Given the description of an element on the screen output the (x, y) to click on. 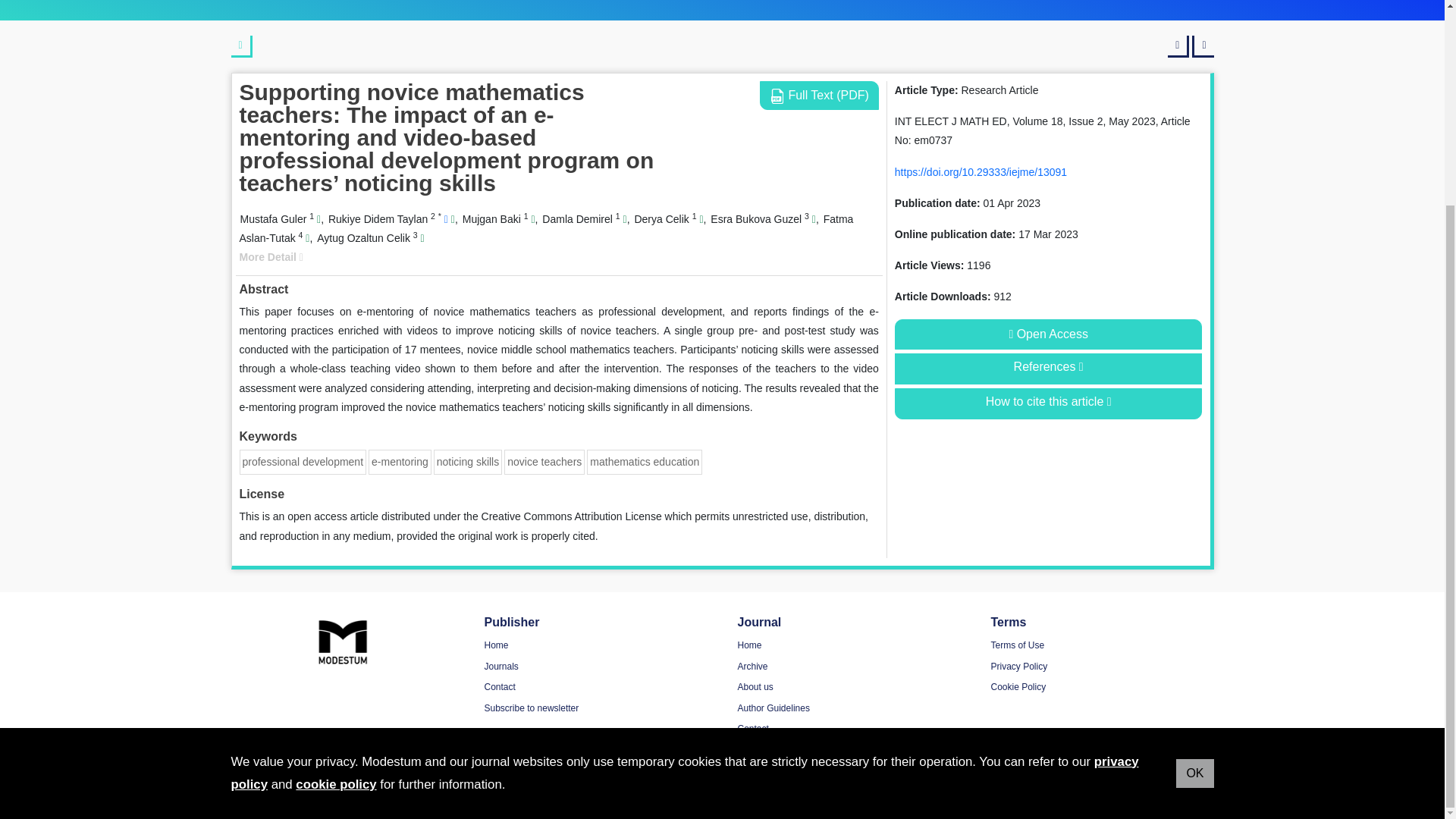
professional development (303, 461)
Next article (1202, 46)
Back to article list (240, 46)
Previous article (1178, 46)
